Given the description of an element on the screen output the (x, y) to click on. 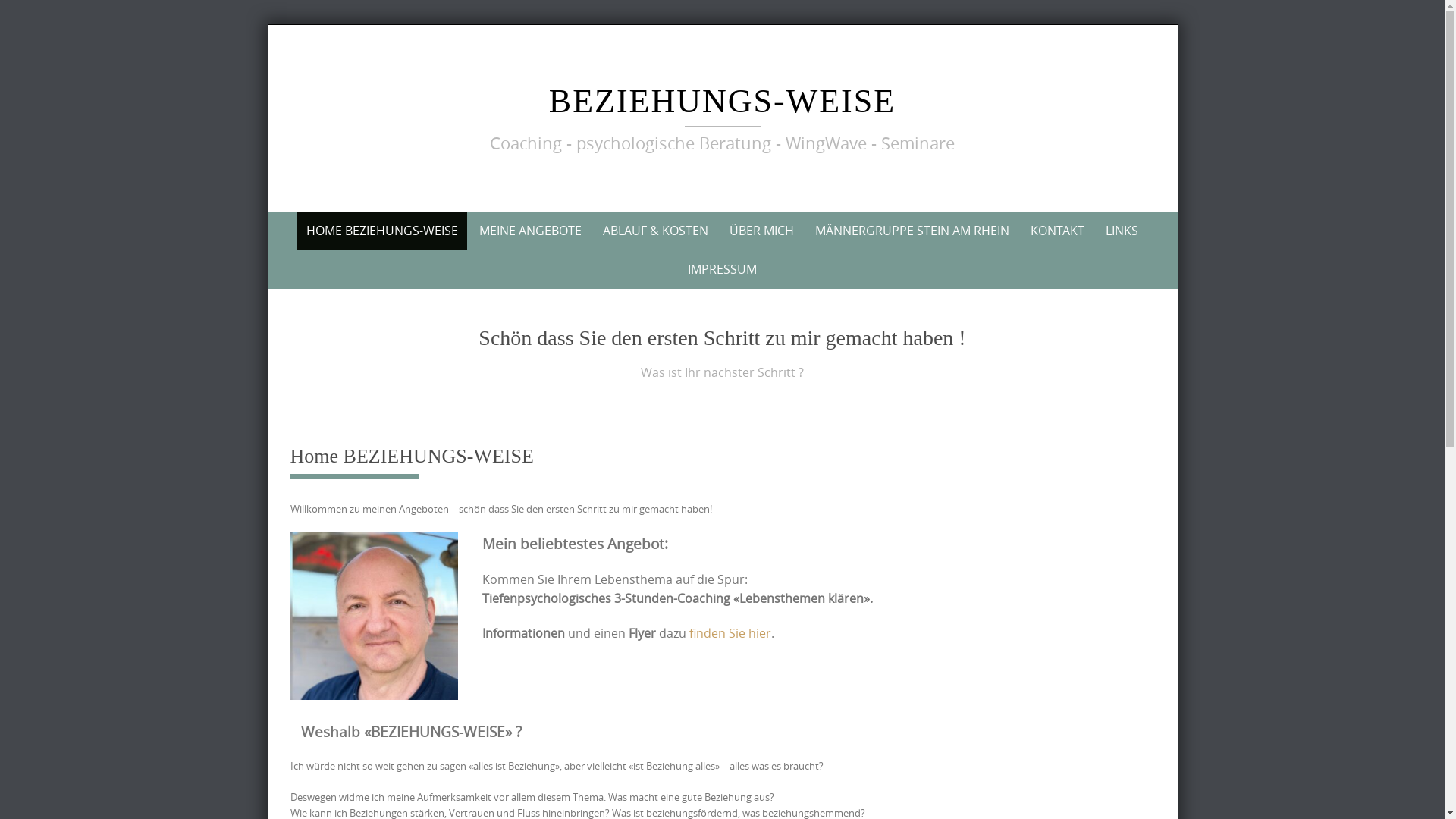
IMPRESSUM Element type: text (721, 269)
KONTAKT Element type: text (1057, 230)
finden Sie hier Element type: text (729, 632)
ABLAUF & KOSTEN Element type: text (655, 230)
HOME BEZIEHUNGS-WEISE Element type: text (382, 230)
Skip to content Element type: text (274, 210)
Skip to content Element type: text (266, 24)
LINKS Element type: text (1121, 230)
MEINE ANGEBOTE Element type: text (530, 230)
BEZIEHUNGS-WEISE Element type: text (722, 100)
